Given the description of an element on the screen output the (x, y) to click on. 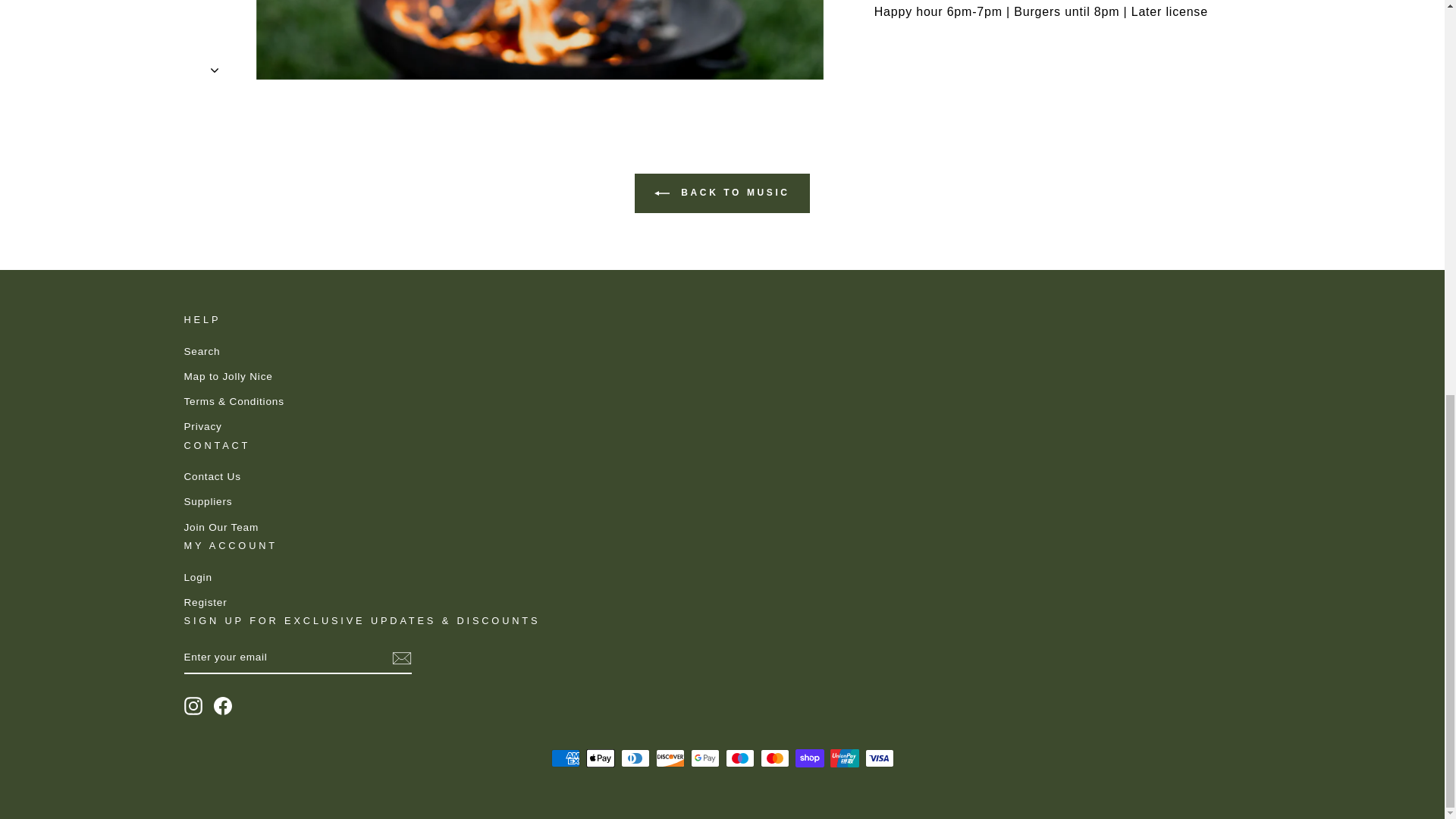
instagram (192, 705)
Jolly Nice on Instagram (192, 705)
Google Pay (704, 758)
Mastercard (774, 758)
icon-email (400, 658)
American Express (564, 758)
icon-chevron (214, 22)
Jolly Nice on Facebook (222, 705)
ICON-LEFT-ARROW (661, 192)
Diners Club (634, 758)
